Given the description of an element on the screen output the (x, y) to click on. 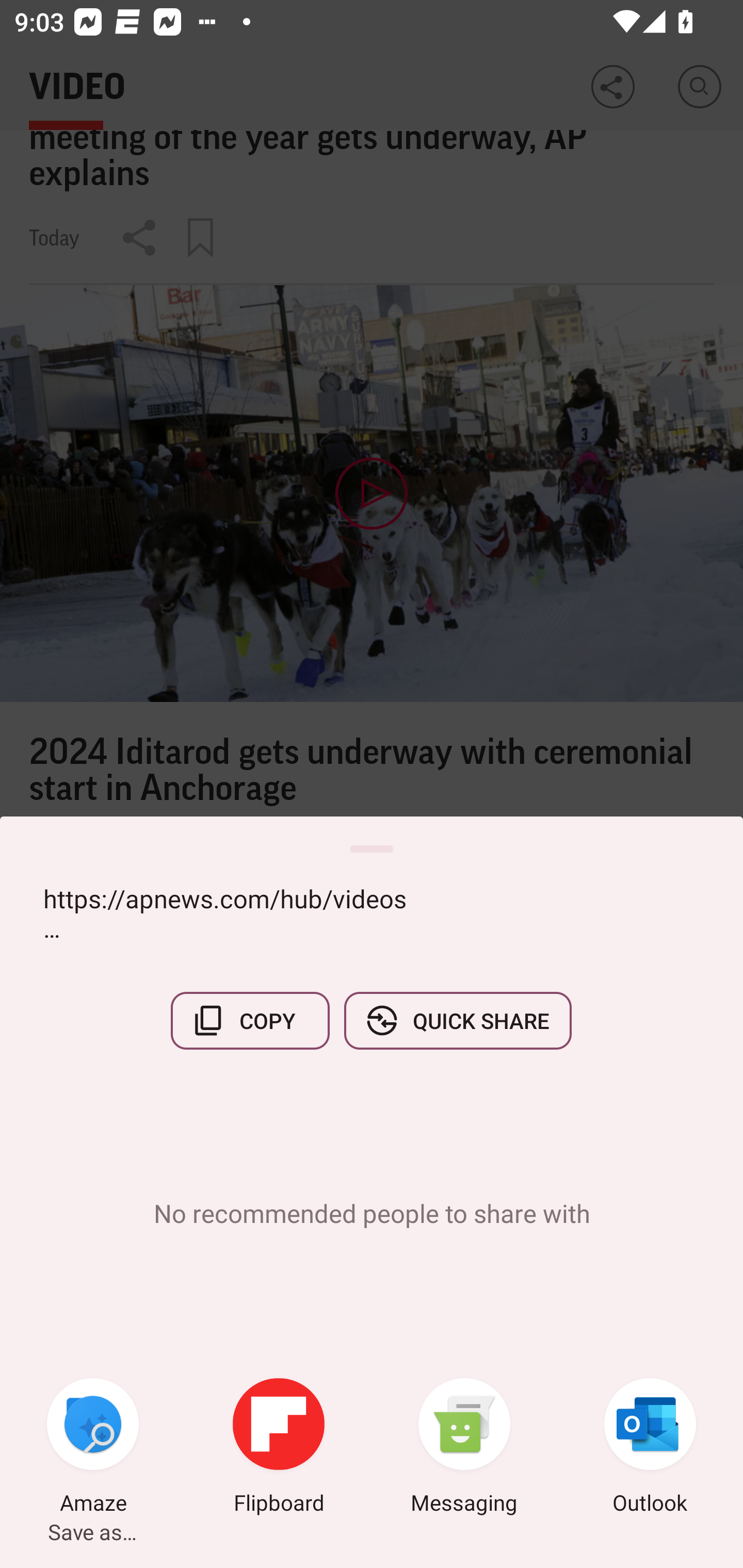
COPY (249, 1020)
QUICK SHARE (457, 1020)
Amaze Save as… (92, 1448)
Flipboard (278, 1448)
Messaging (464, 1448)
Outlook (650, 1448)
